Given the description of an element on the screen output the (x, y) to click on. 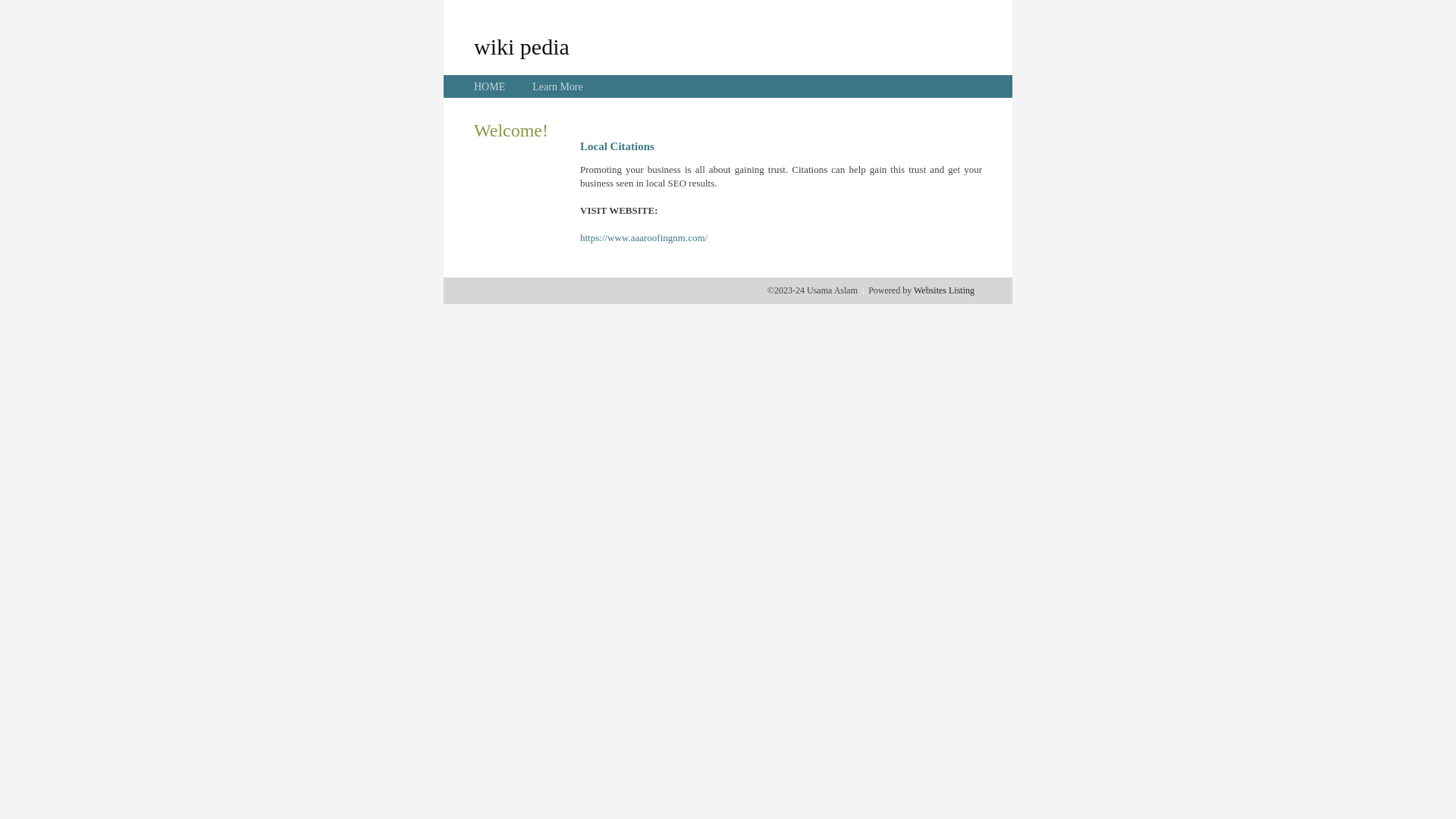
wiki pedia Element type: text (521, 46)
https://www.aaaroofingnm.com/ Element type: text (643, 237)
Learn More Element type: text (557, 86)
HOME Element type: text (489, 86)
Websites Listing Element type: text (943, 290)
